Given the description of an element on the screen output the (x, y) to click on. 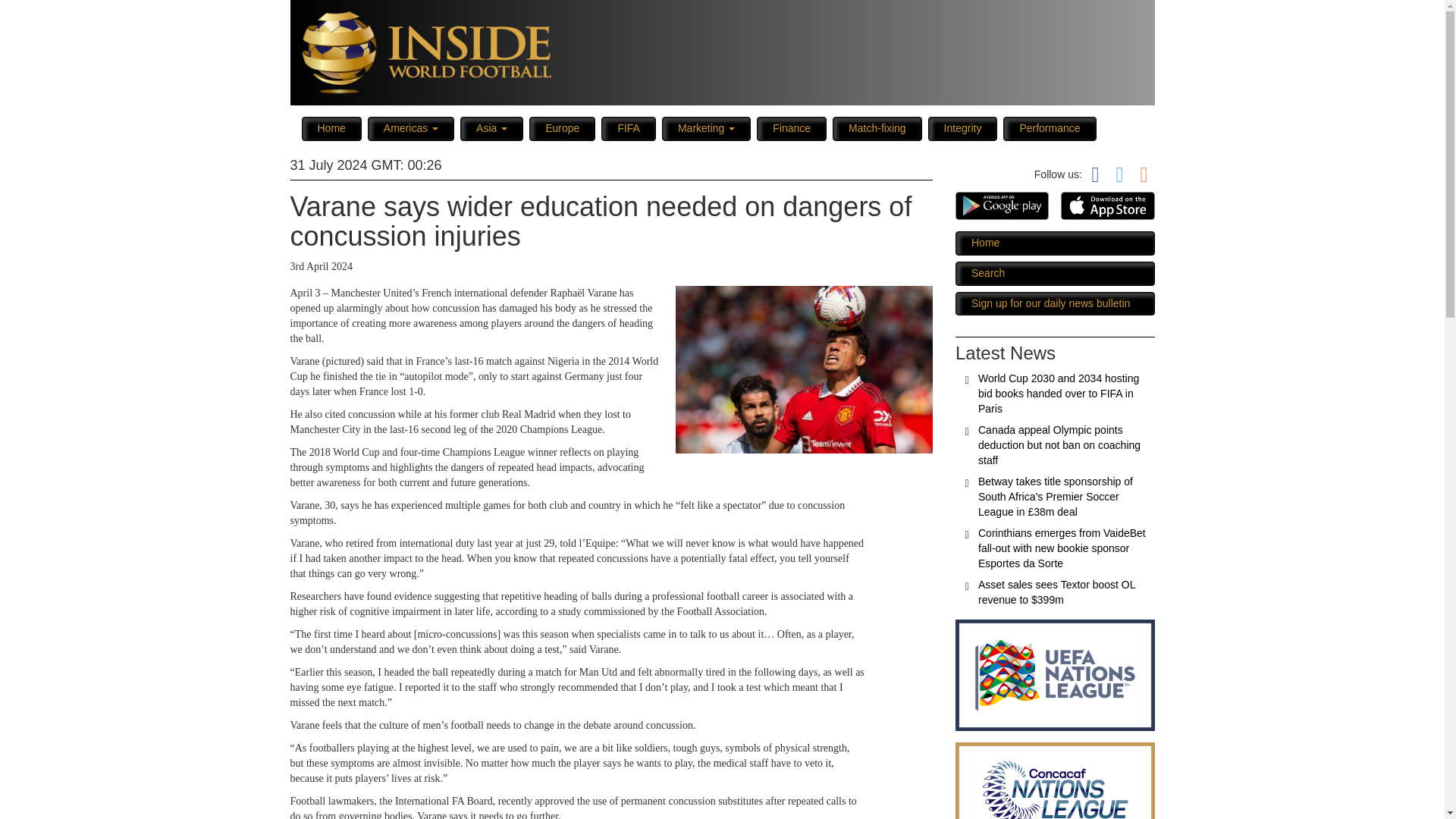
Americas (411, 128)
Asia (491, 128)
Home (331, 128)
Home (331, 128)
Americas (411, 128)
